Given the description of an element on the screen output the (x, y) to click on. 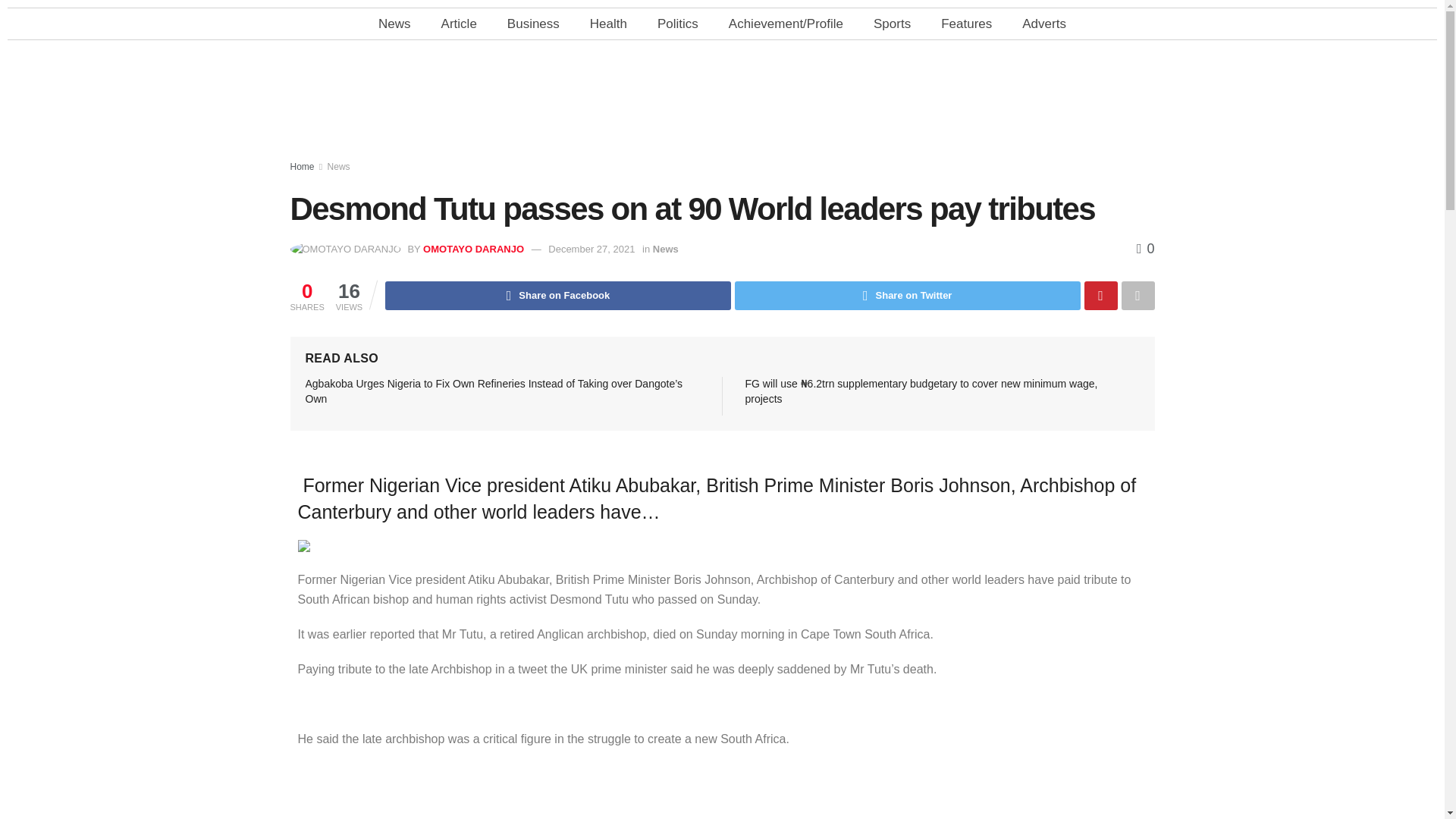
OMOTAYO DARANJO (473, 248)
News (338, 166)
Adverts (1044, 23)
News (394, 23)
Business (533, 23)
Home (301, 166)
Share on Twitter (907, 295)
Politics (677, 23)
Share on Facebook (557, 295)
Advertisement (722, 104)
Features (966, 23)
Sports (892, 23)
0 (1145, 248)
Article (459, 23)
December 27, 2021 (591, 248)
